Given the description of an element on the screen output the (x, y) to click on. 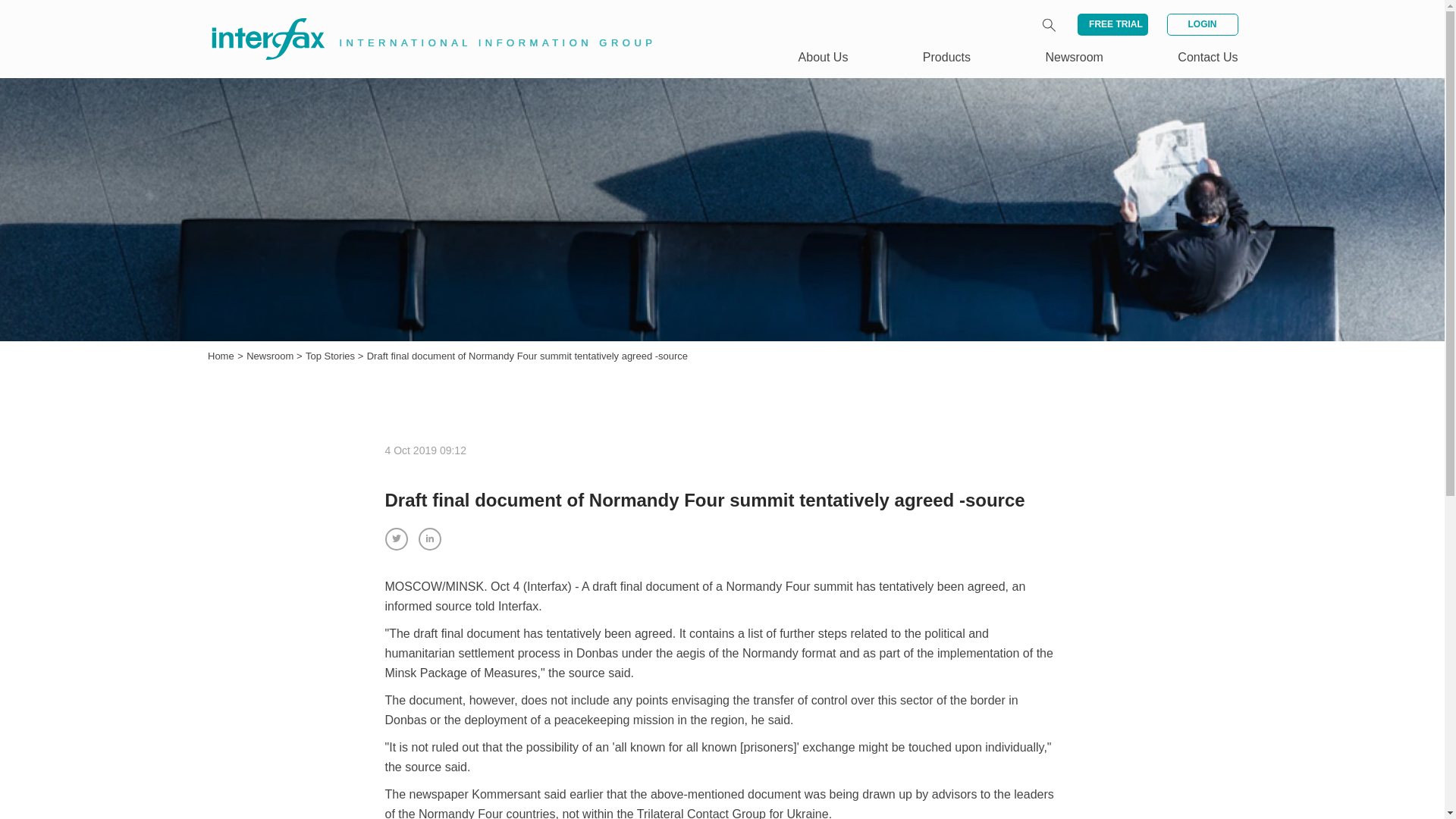
LOGIN (1201, 24)
Newsroom (271, 355)
Newsroom (271, 355)
Contact Us (1207, 56)
Home (221, 355)
About Us (822, 56)
Contact Us (1207, 56)
Products (947, 56)
FREE TRIAL (1112, 24)
Top Stories (331, 355)
